Given the description of an element on the screen output the (x, y) to click on. 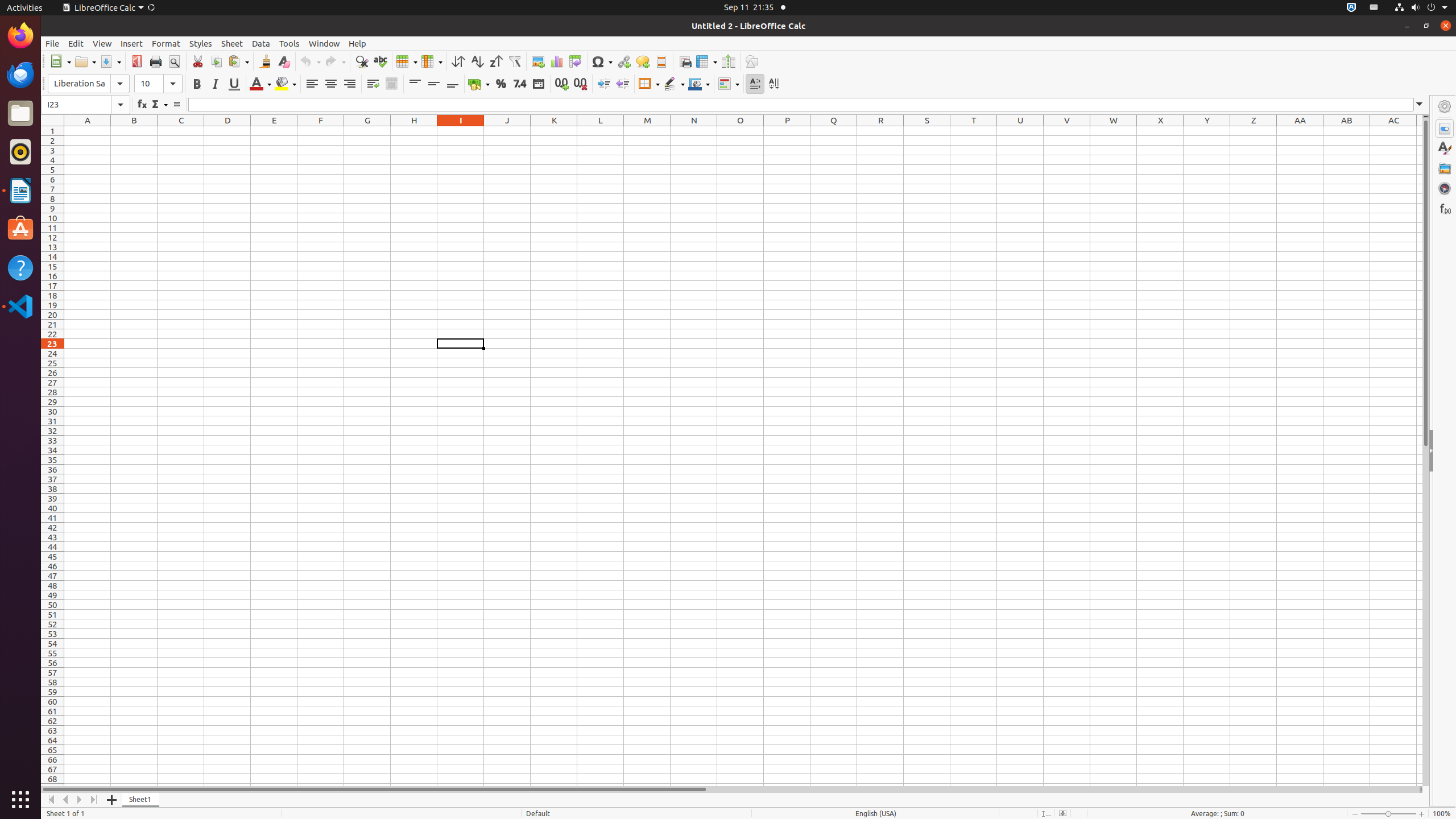
Clone Element type: push-button (264, 61)
Wrap Text Element type: push-button (372, 83)
New Element type: push-button (59, 61)
Q1 Element type: table-cell (833, 130)
Cut Element type: push-button (197, 61)
